Given the description of an element on the screen output the (x, y) to click on. 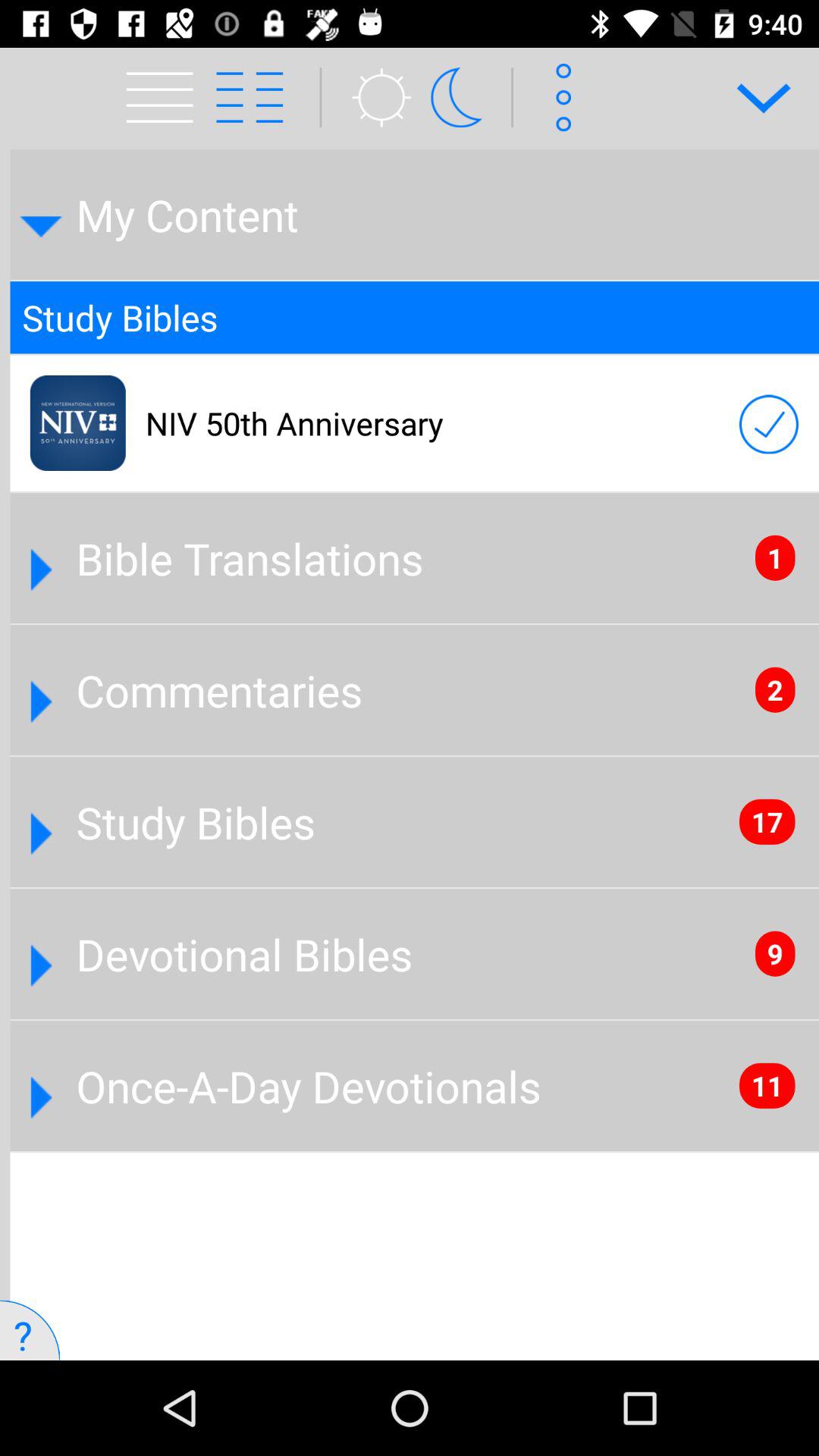
click on the button which is right to the niv 50th anniversary button (768, 425)
select the second button to the top right corner of the page (558, 97)
drop down arrow in top right corner (753, 97)
click on home button at top left (164, 97)
select the logo left to niv 50th anniversary (78, 422)
